Given the description of an element on the screen output the (x, y) to click on. 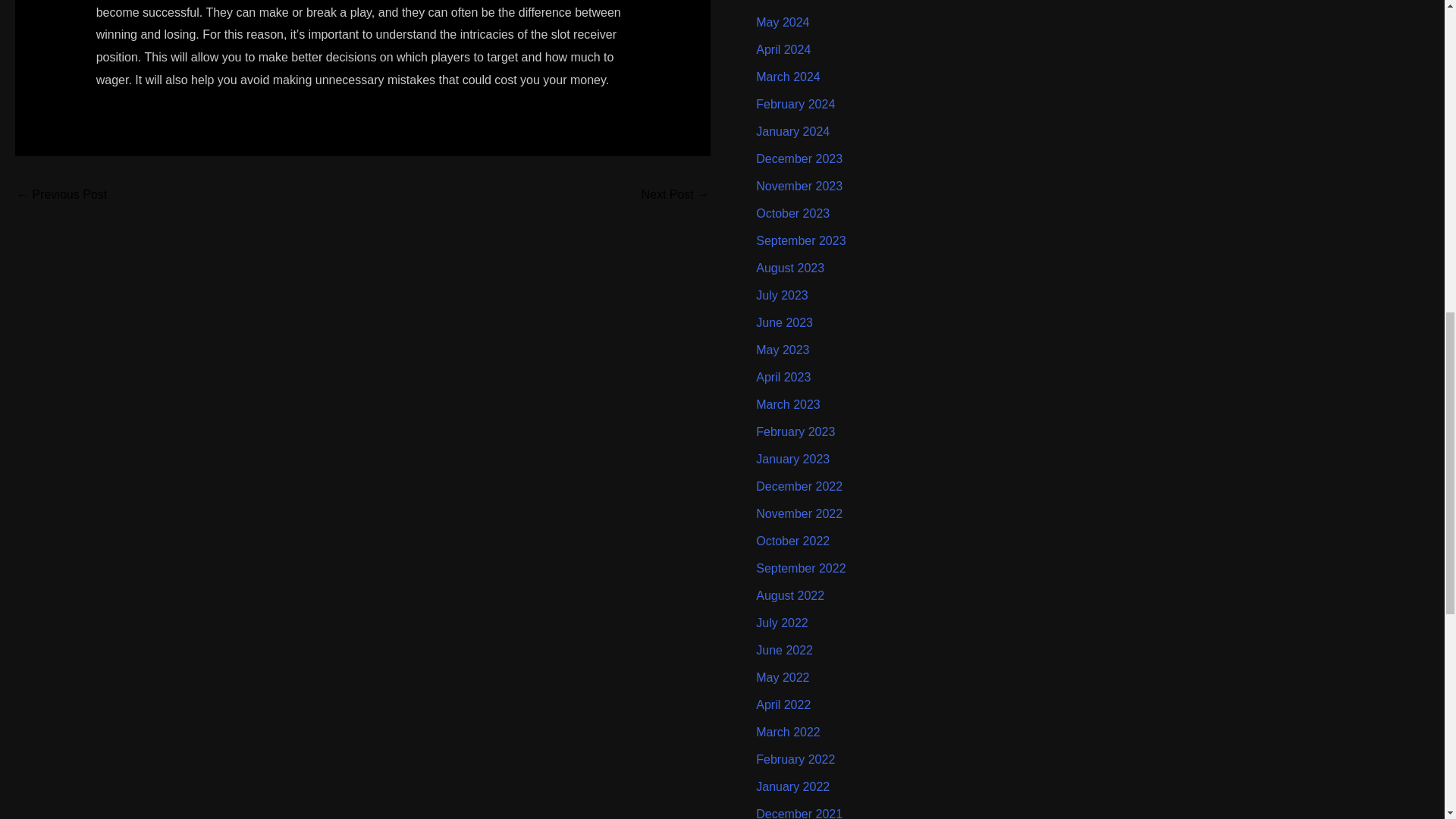
November 2022 (799, 513)
June 2024 (783, 0)
March 2024 (788, 76)
The Odds of Winning a Lottery (61, 195)
January 2024 (792, 131)
May 2023 (782, 349)
October 2023 (792, 213)
October 2022 (792, 540)
June 2023 (783, 322)
November 2023 (799, 185)
December 2022 (799, 486)
Choosing a Sportsbook (674, 195)
July 2023 (781, 295)
January 2023 (792, 459)
September 2023 (800, 240)
